Given the description of an element on the screen output the (x, y) to click on. 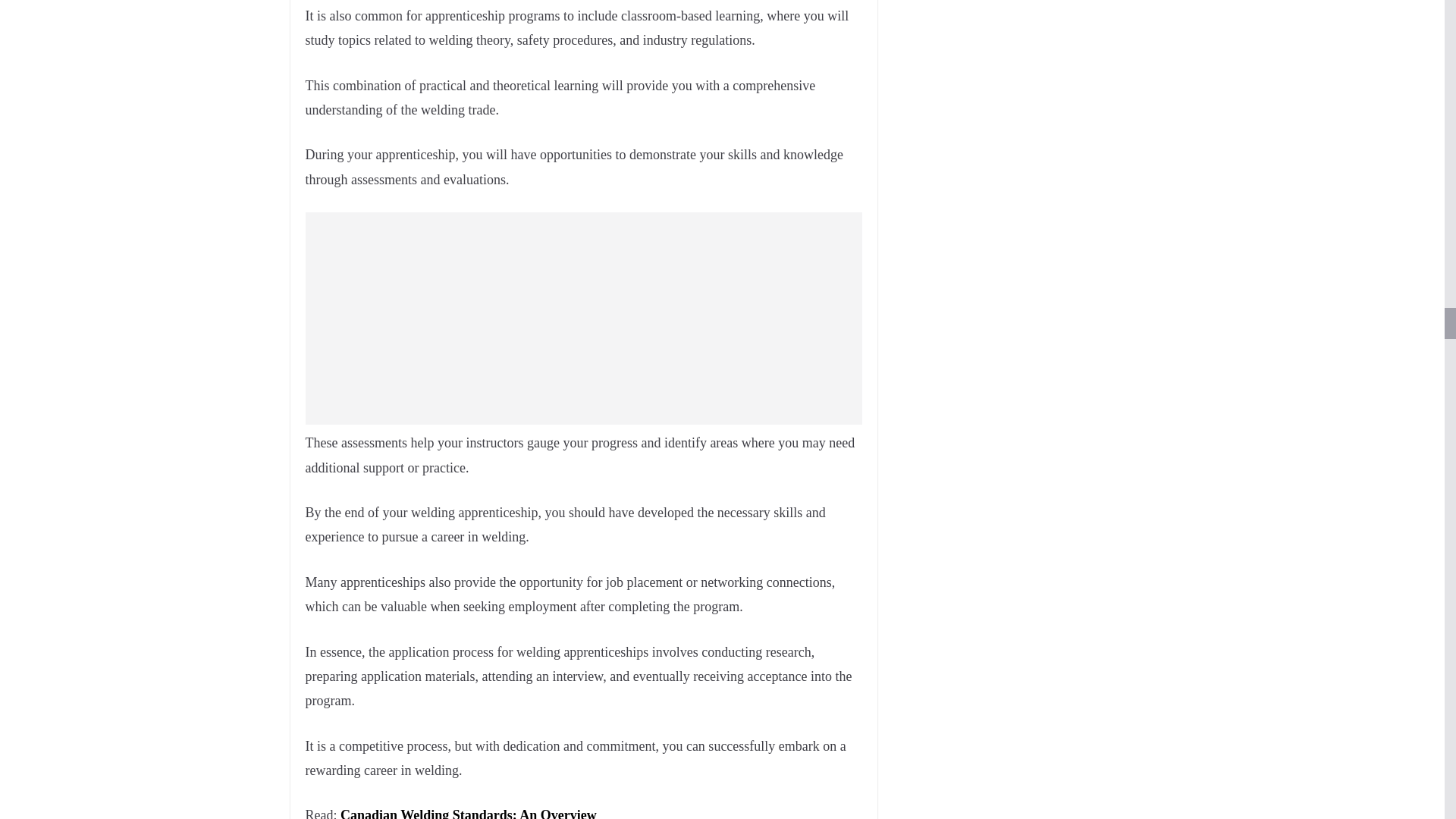
Canadian Welding Standards: An Overview (468, 813)
